Given the description of an element on the screen output the (x, y) to click on. 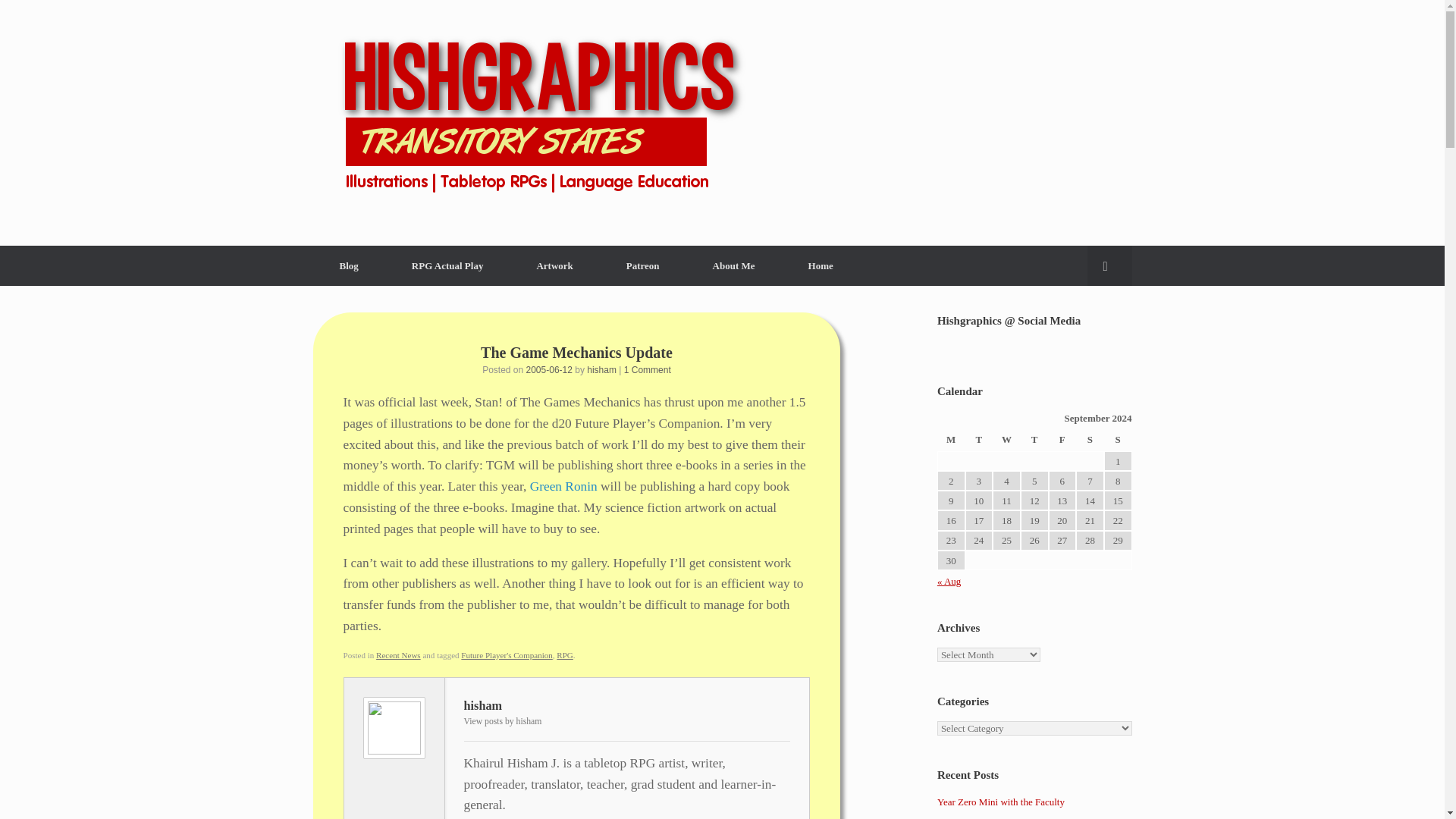
Green Ronin Publishing (562, 486)
Saturday (1089, 440)
RPG Actual Play (448, 265)
Home (820, 265)
Artwork (553, 265)
Patreon (642, 265)
Tuesday (978, 440)
View all posts by hisham (600, 369)
2:00 am (548, 369)
Wednesday (1006, 440)
